Given the description of an element on the screen output the (x, y) to click on. 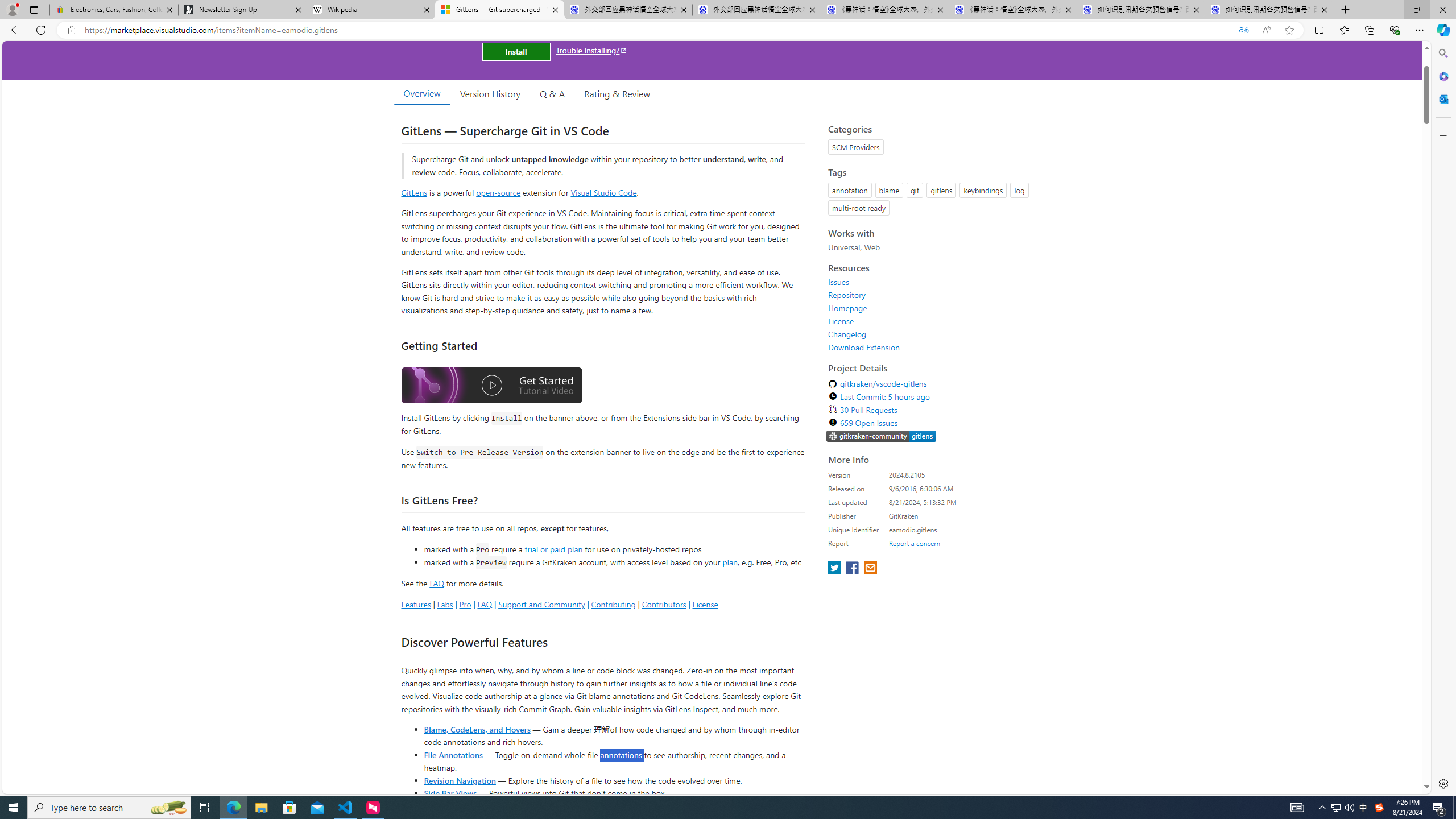
share extension on email (869, 568)
Install (515, 51)
License (840, 320)
Download Extension (863, 346)
Side Bar Views (449, 792)
Blame, CodeLens, and Hovers (476, 728)
License (931, 320)
